Given the description of an element on the screen output the (x, y) to click on. 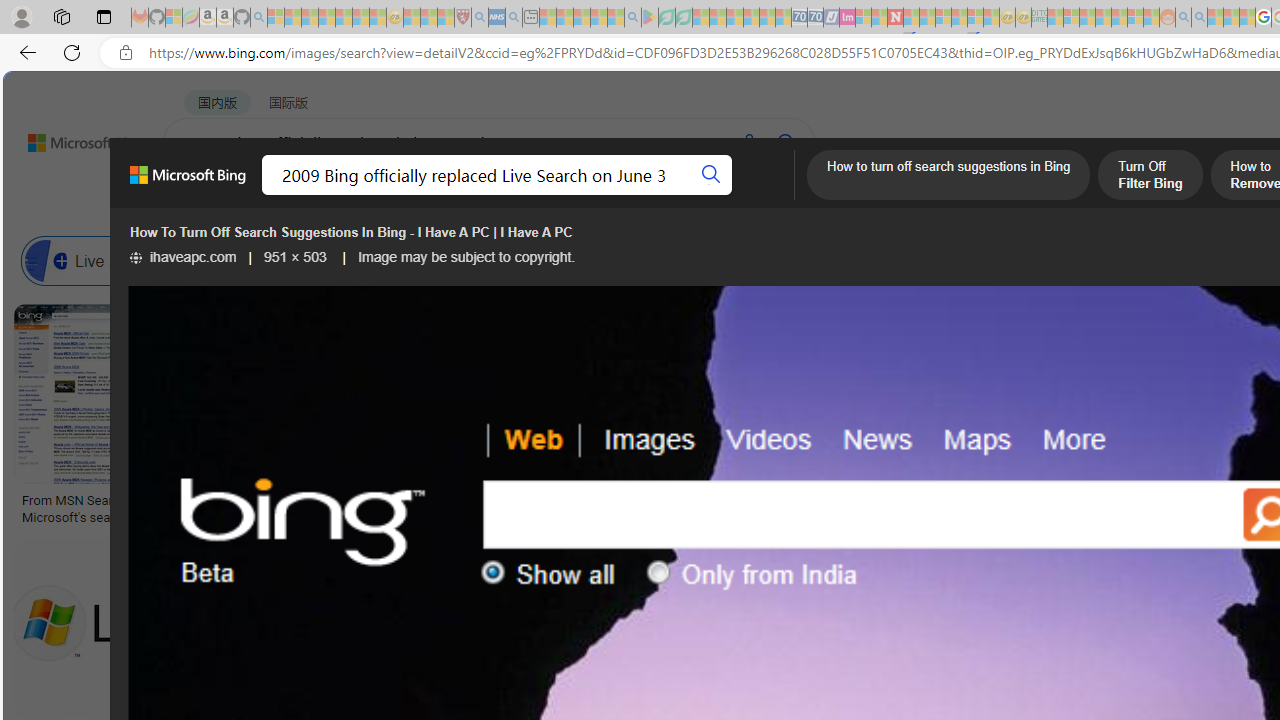
14 Common Myths Debunked By Scientific Facts - Sleeping (927, 17)
Class: b_pri_nav_svg (423, 196)
Bing Voice Search (213, 260)
ACADEMIC (635, 195)
VIDEOS (545, 195)
Bing Ai Search Engine Powered (943, 260)
Microsoft Live LogoSave (740, 417)
Microsoft Bing, Back to Bing search (188, 183)
WEB (201, 195)
IMAGES (360, 196)
Bing Word Search (710, 260)
